Given the description of an element on the screen output the (x, y) to click on. 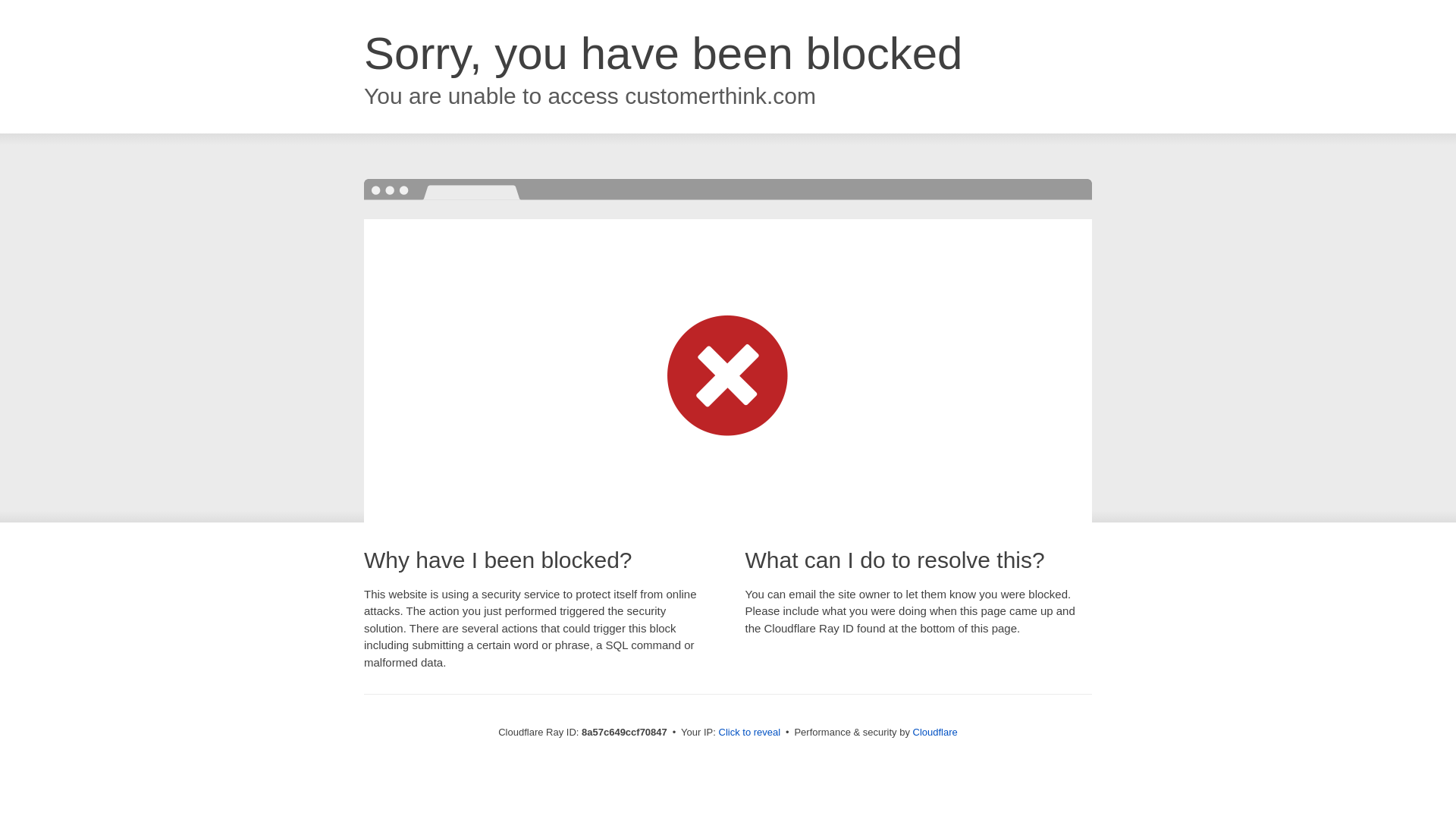
Cloudflare (935, 731)
Click to reveal (749, 732)
